Given the description of an element on the screen output the (x, y) to click on. 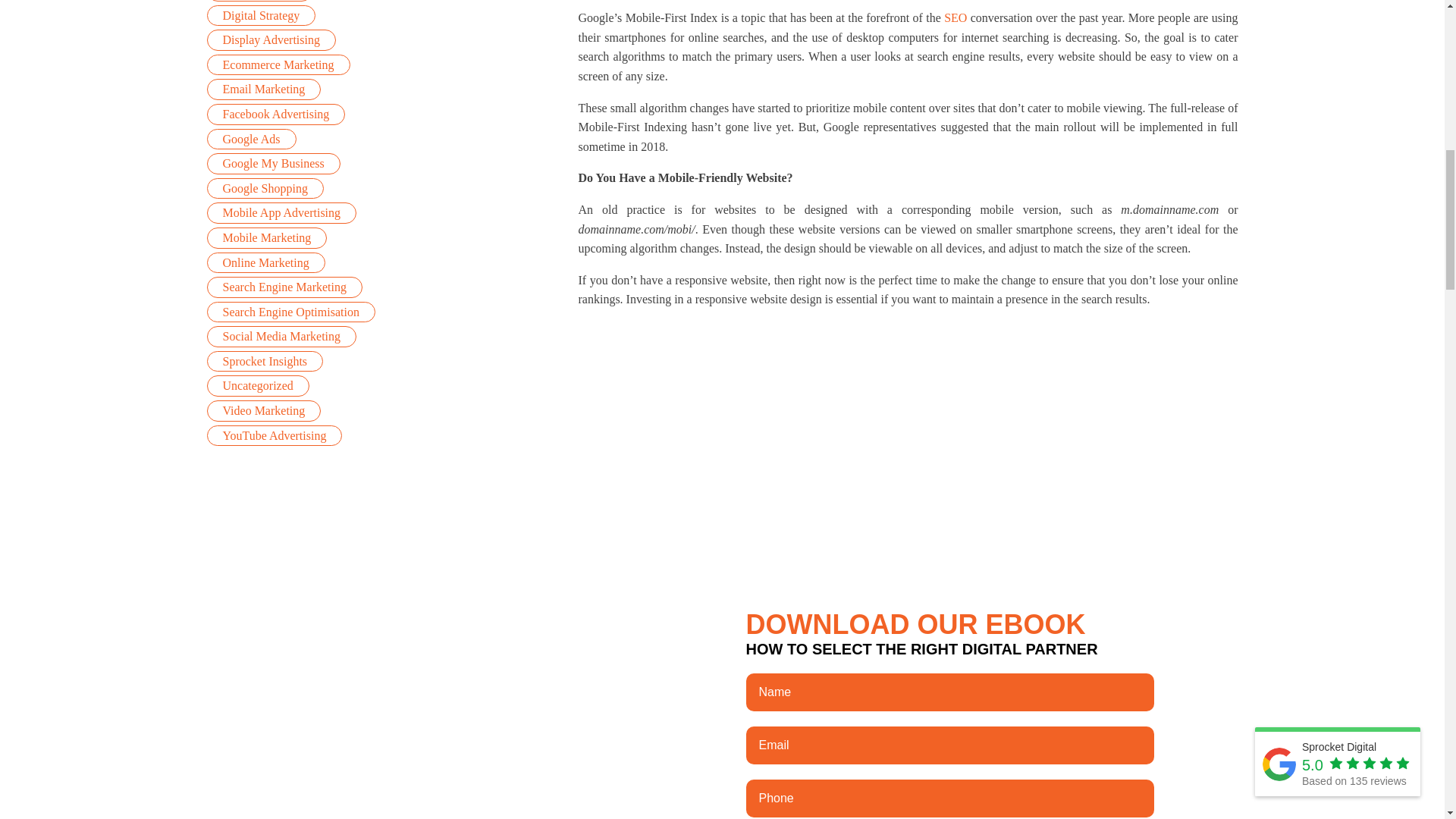
SEO (954, 17)
